Given the description of an element on the screen output the (x, y) to click on. 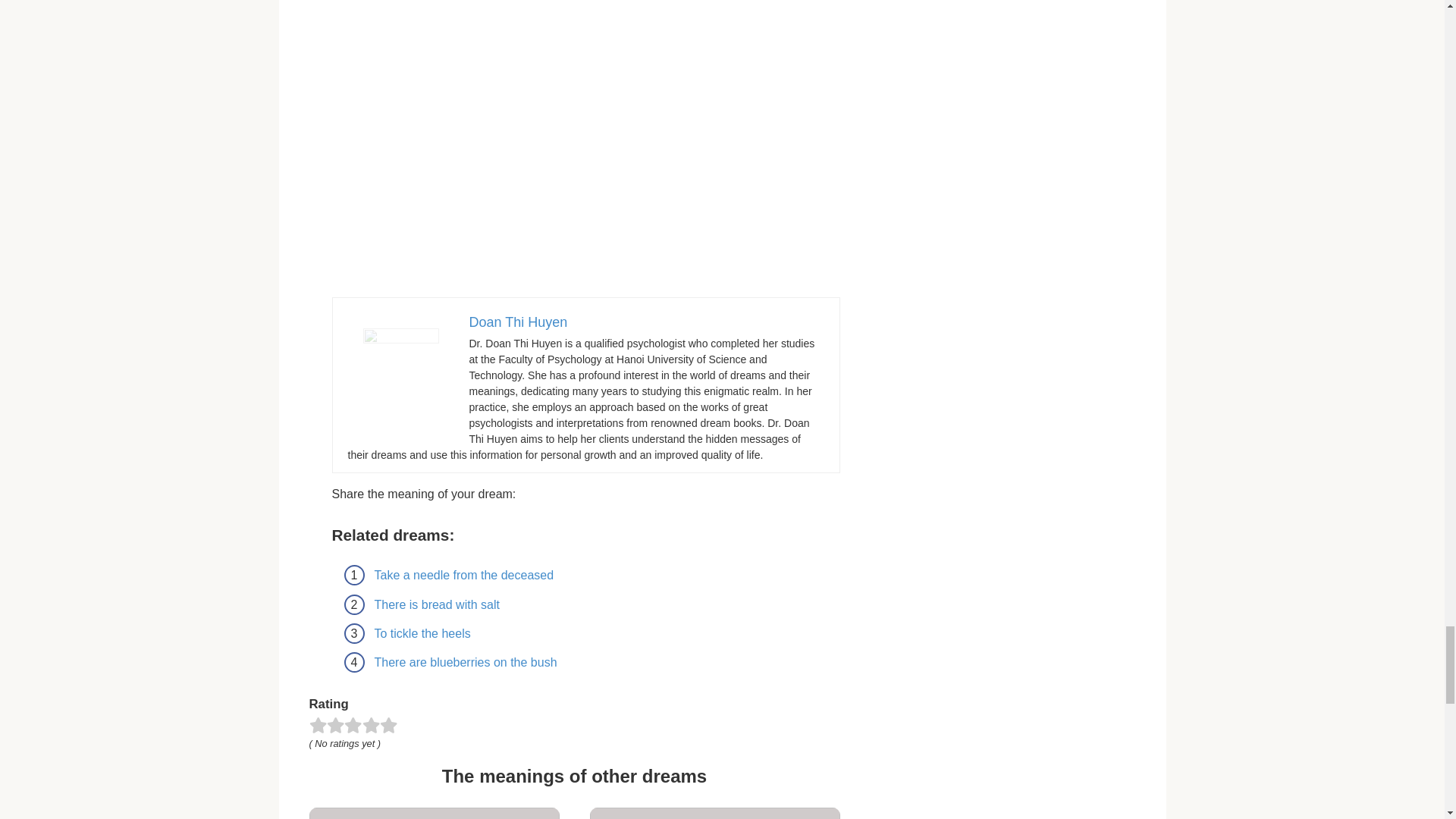
Take a needle from the deceased (464, 574)
To tickle the heels (422, 633)
There are blueberries on the bush (465, 662)
There is bread with salt (436, 604)
